Given the description of an element on the screen output the (x, y) to click on. 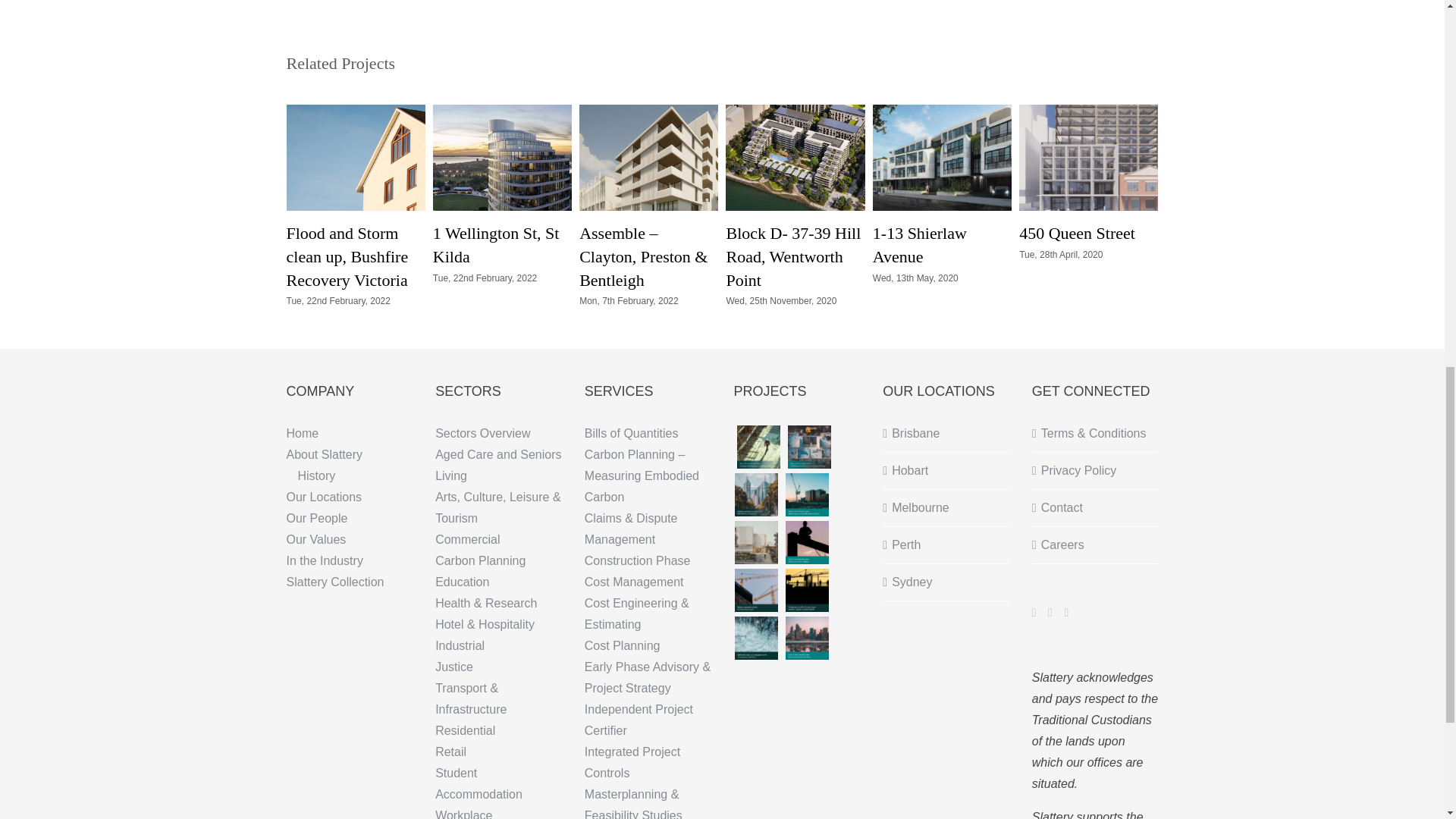
Flood and Storm clean up, Bushfire Recovery Victoria (347, 256)
1-13 Shierlaw Avenue (919, 244)
Block D- 37-39 Hill Road, Wentworth Point (792, 256)
Slattery embodied carbon: Retrofitting reimagined (755, 494)
450 Queen Street (1077, 232)
1 Wellington St, St Kilda (495, 244)
